Given the description of an element on the screen output the (x, y) to click on. 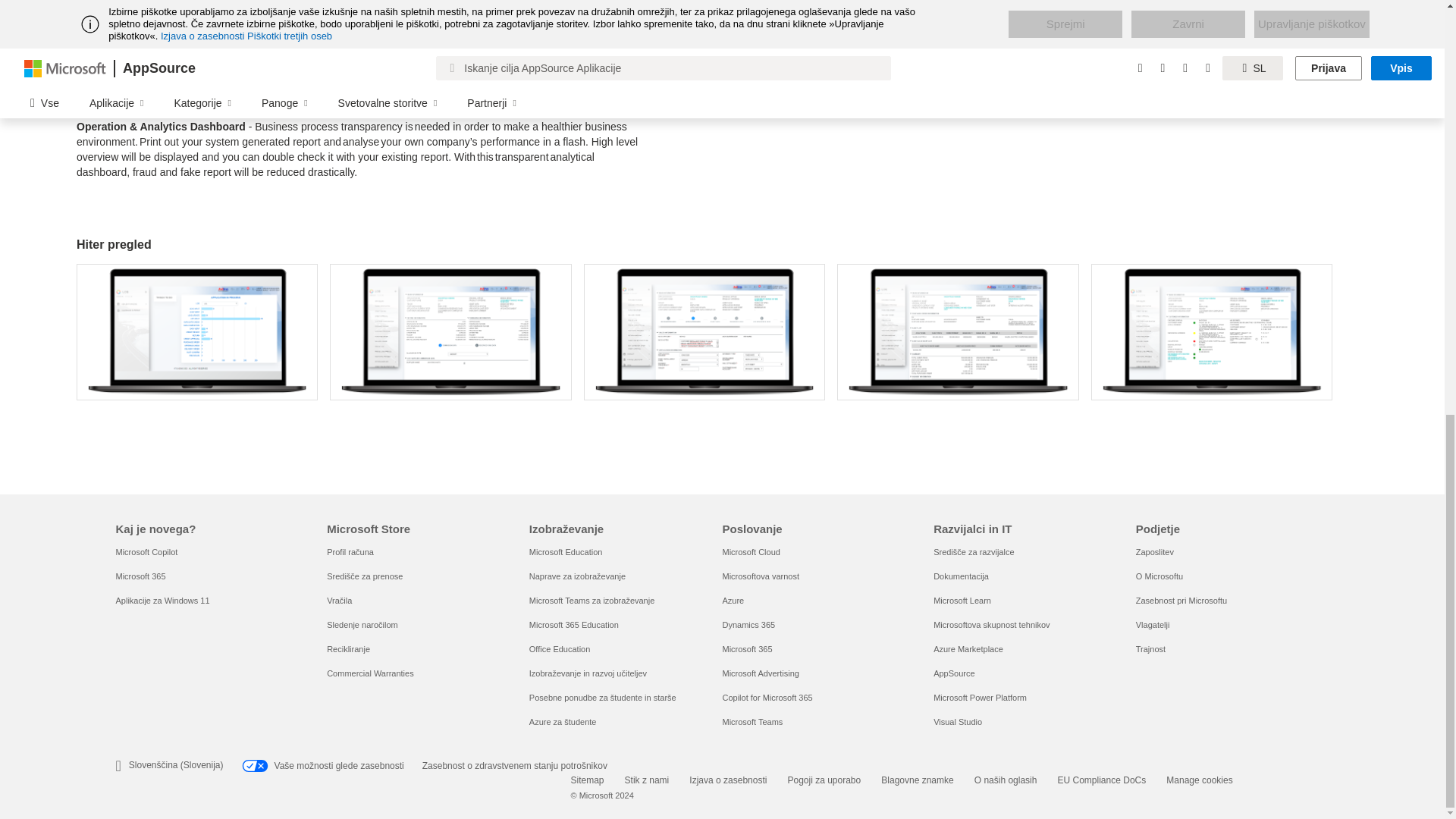
Microsoft 365 (140, 575)
Recikliranje (347, 648)
Microsoft Education (565, 551)
Commercial Warranties (369, 673)
Aplikacije za Windows 11 (162, 600)
Microsoft Copilot (146, 551)
